Given the description of an element on the screen output the (x, y) to click on. 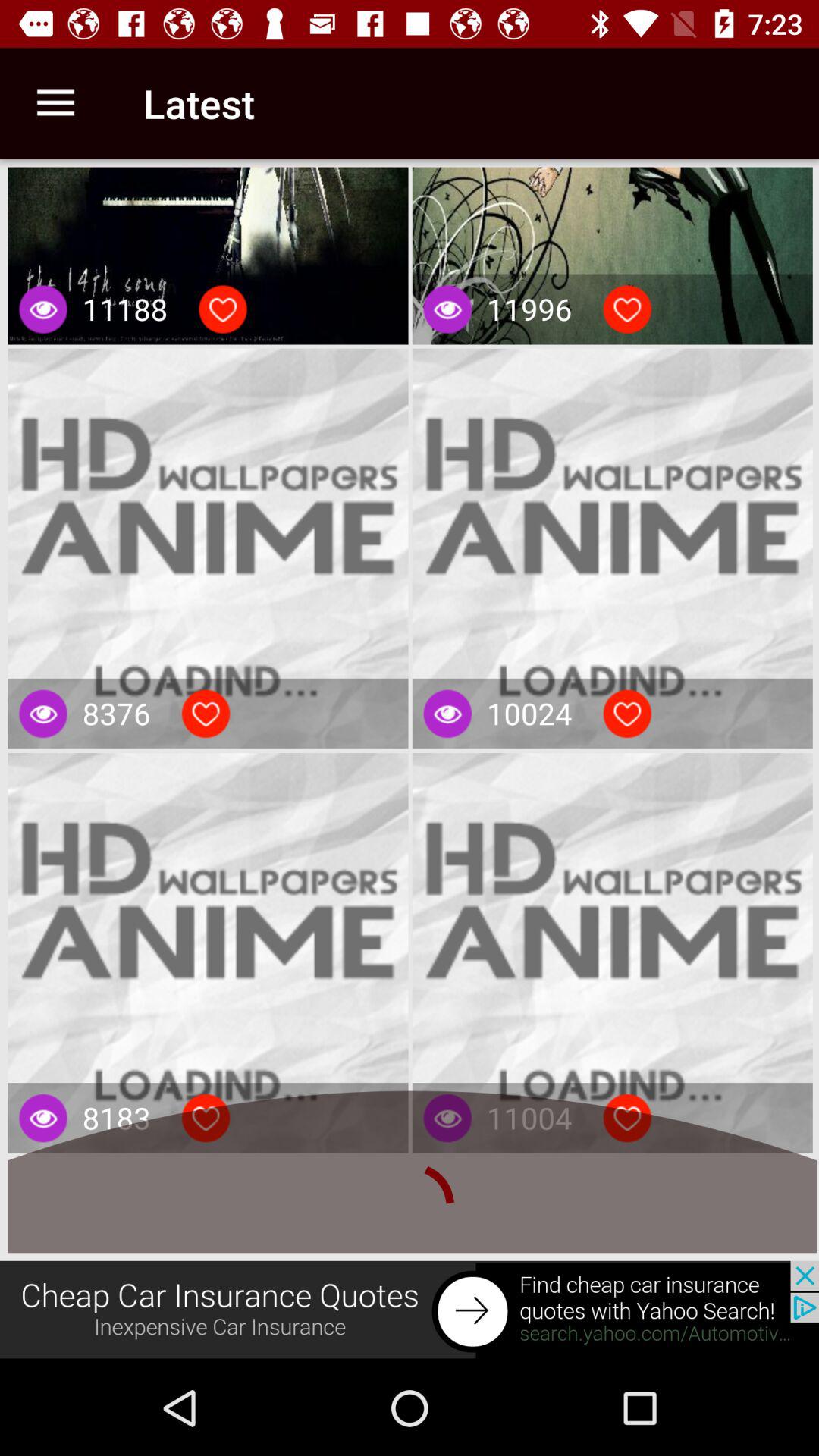
like wallpaper (205, 713)
